Given the description of an element on the screen output the (x, y) to click on. 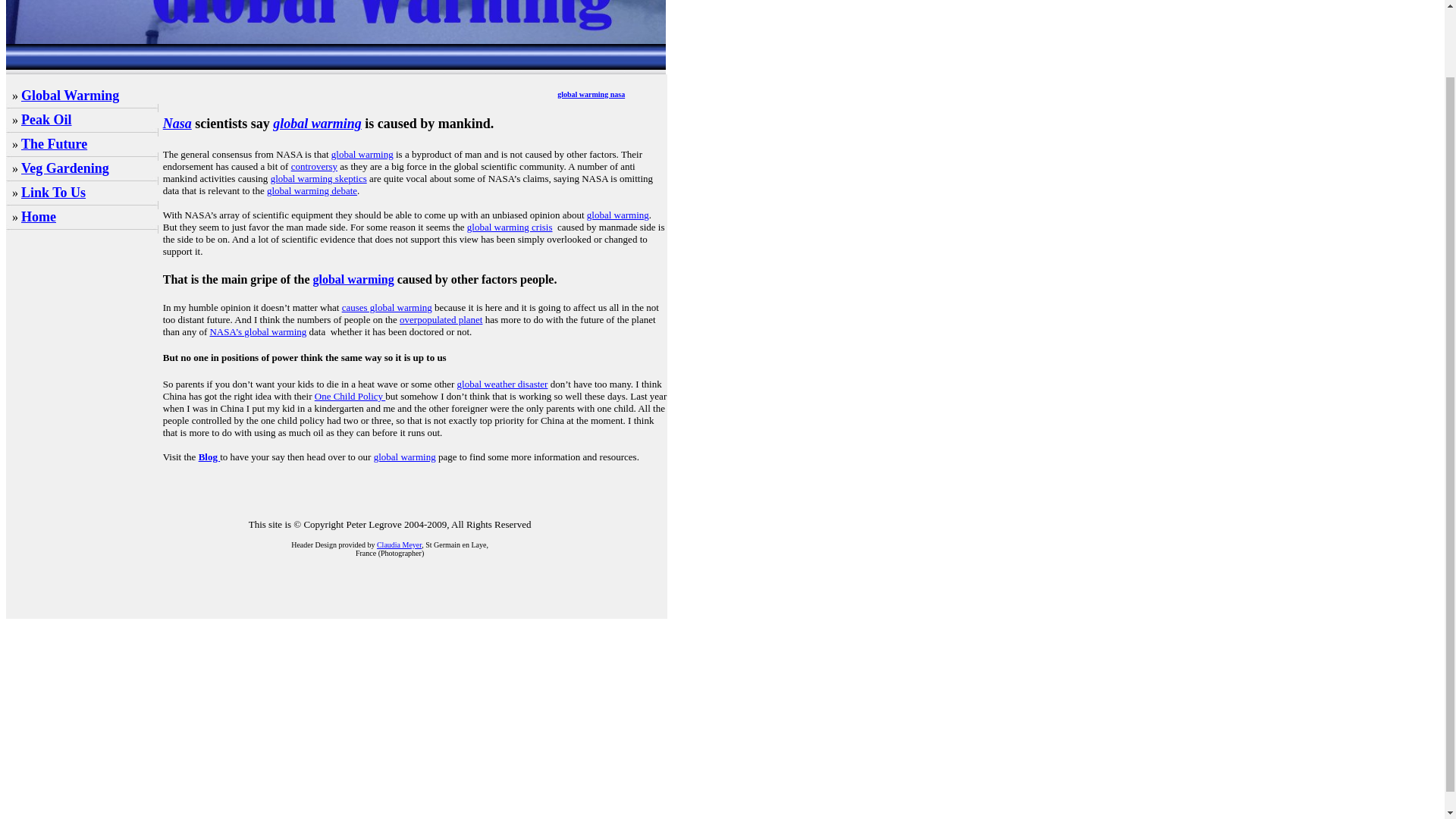
The Future (54, 144)
global warming (317, 123)
Claudia Meyer (399, 544)
Home (38, 216)
Veg Gardening (65, 168)
global warming (617, 214)
One Child Policy (349, 396)
Link To Us (53, 192)
controversy (314, 165)
Peak Oil (46, 119)
